Given the description of an element on the screen output the (x, y) to click on. 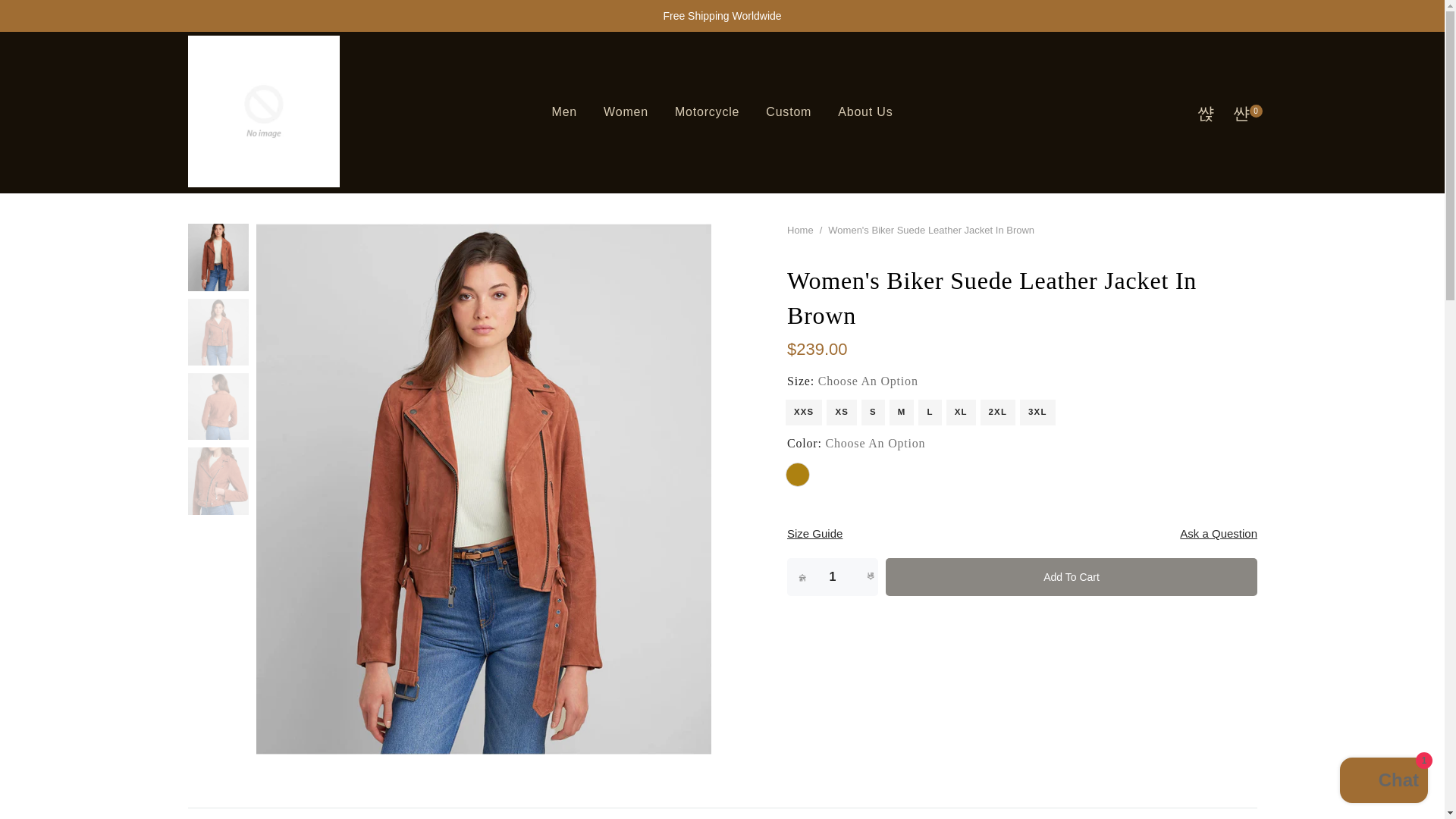
Women (626, 111)
Motorcycle (706, 111)
Add To Cart (1071, 576)
About Us (865, 111)
Size Guide (815, 533)
Shopify online store chat (1383, 781)
Home (800, 229)
Men (564, 111)
Ask a Question (1218, 533)
Custom (788, 111)
